Given the description of an element on the screen output the (x, y) to click on. 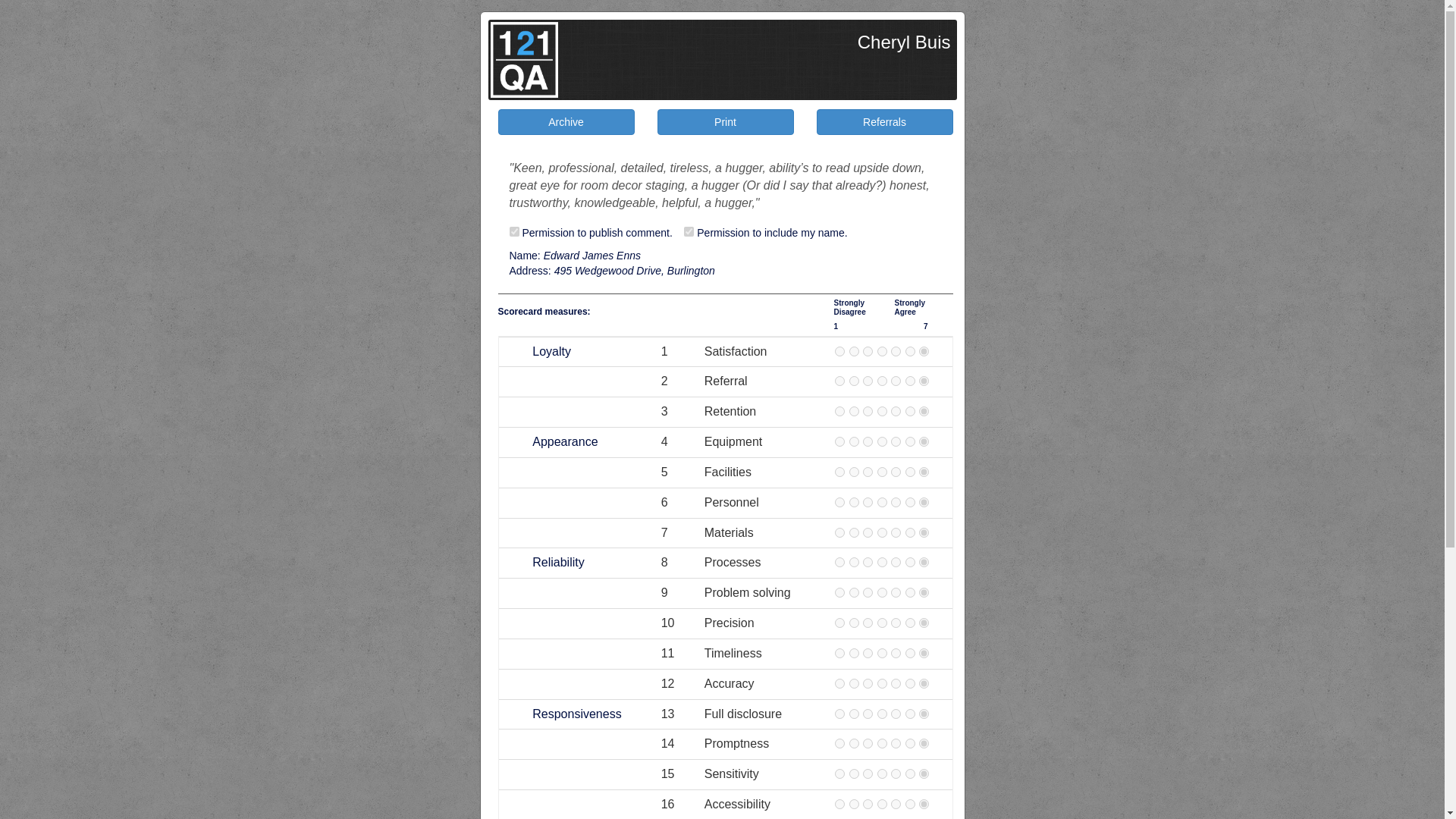
Archive Element type: text (565, 121)
Referrals Element type: text (883, 121)
Print Element type: text (724, 121)
Archive Element type: text (565, 121)
Referrals Element type: text (883, 121)
Print Element type: text (724, 121)
